Given the description of an element on the screen output the (x, y) to click on. 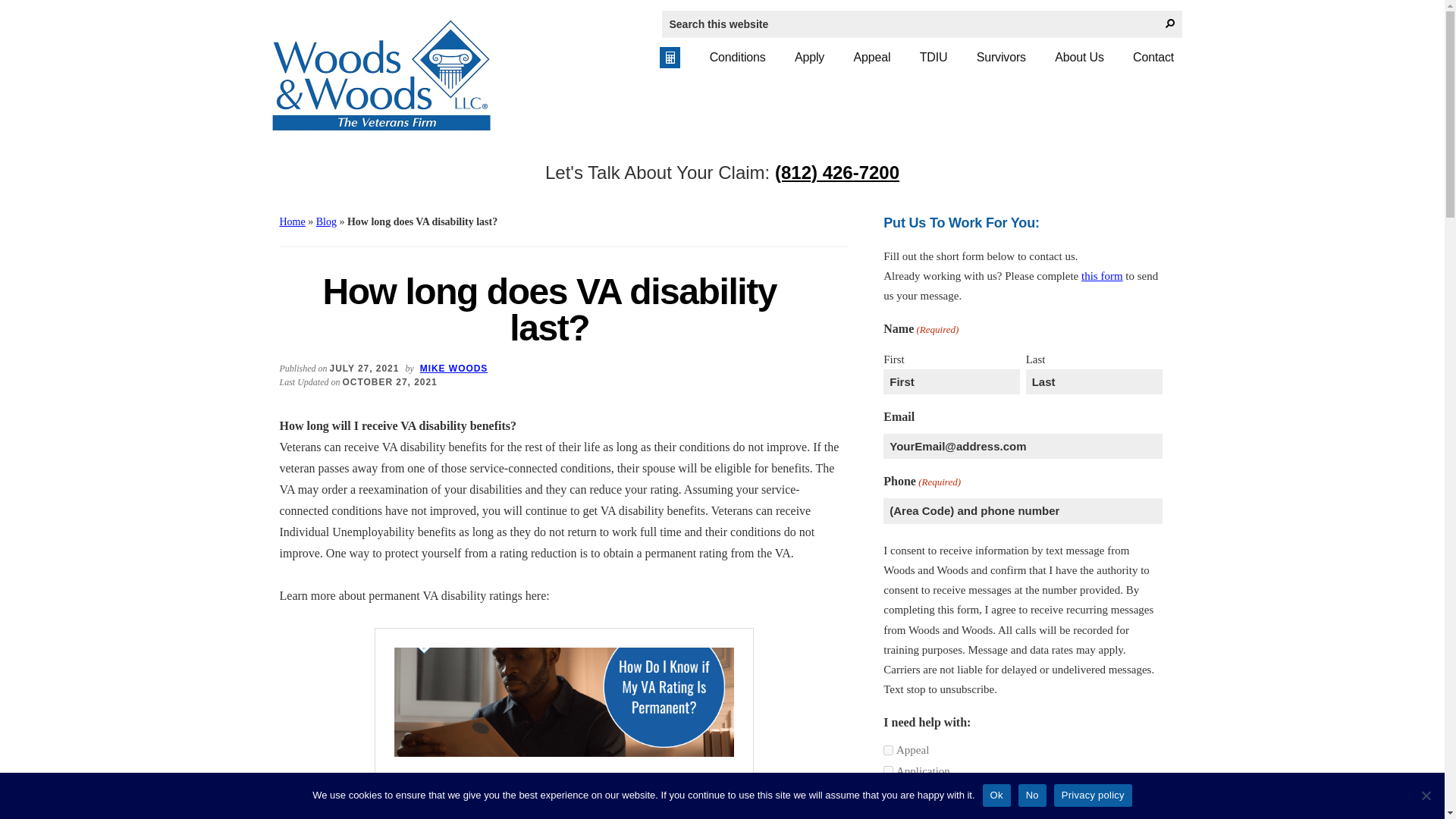
Home (291, 220)
MIKE WOODS (453, 368)
Search (1169, 23)
VA disability calculator (669, 56)
Appeal (871, 56)
TDIU (933, 56)
Conditions (737, 56)
Application (888, 770)
Apply (809, 56)
About Us (1079, 56)
this form (1101, 275)
Survivors (1001, 56)
Appeal (888, 750)
No (1425, 795)
